Given the description of an element on the screen output the (x, y) to click on. 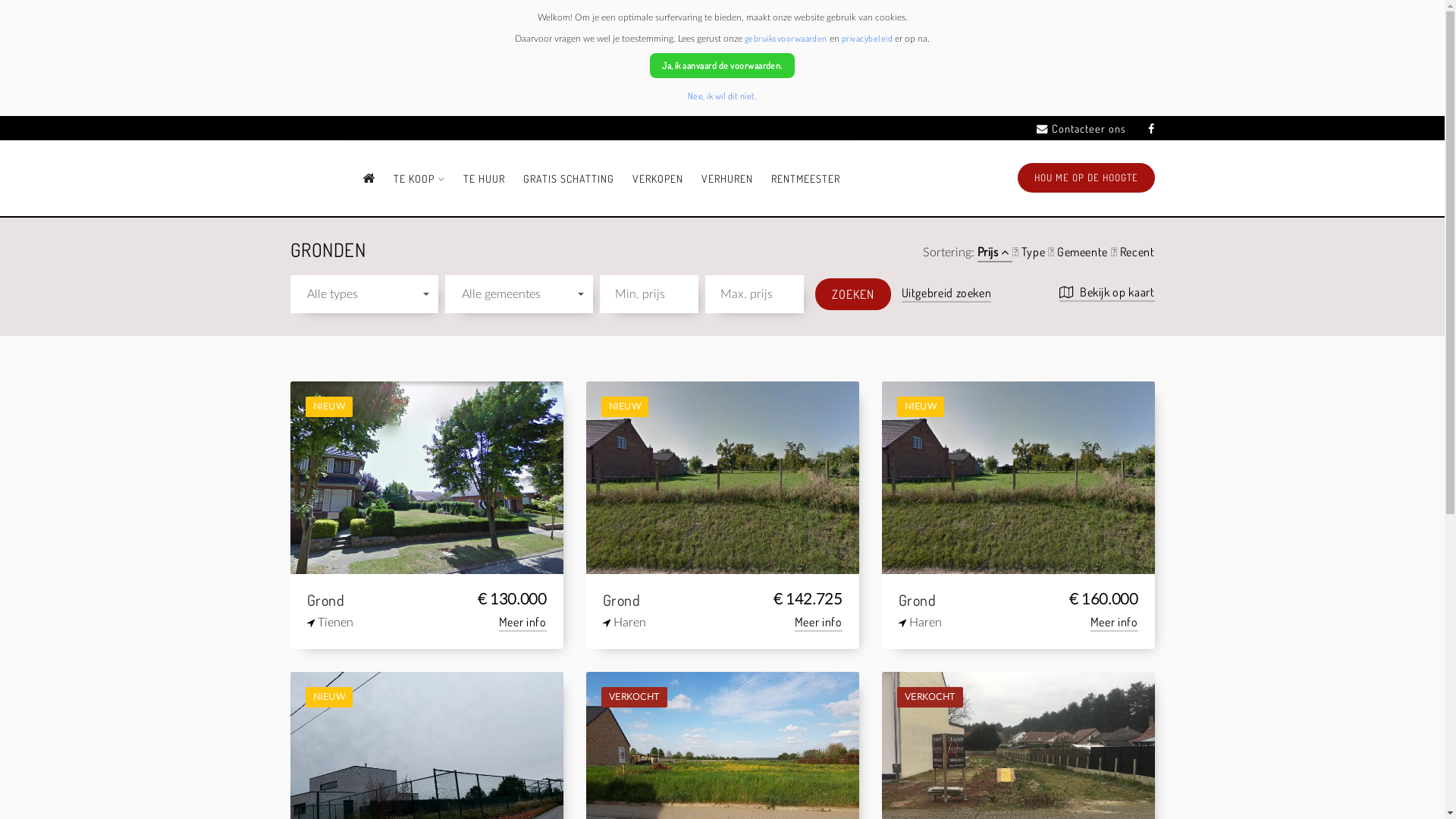
VERHUREN Element type: text (727, 178)
RENTMEESTER Element type: text (805, 178)
GRATIS SCHATTING Element type: text (568, 178)
Meer info Element type: text (522, 622)
VERKOPEN Element type: text (657, 178)
Zoeken Element type: text (852, 294)
Alle gemeentes
  Element type: text (518, 294)
TE HUUR Element type: text (484, 178)
Tienen Element type: text (402, 622)
Meer info Element type: text (818, 622)
NIEUW Element type: text (1017, 475)
Alle types
  Element type: text (363, 294)
Bekijk op kaart Element type: text (1106, 292)
Prijs Element type: text (994, 253)
TE KOOP Element type: text (419, 178)
gebruiksvoorwaarden Element type: text (785, 37)
NIEUW Element type: text (425, 766)
Meer info Element type: text (1114, 622)
Uitgebreid zoeken Element type: text (945, 293)
NIEUW Element type: text (425, 475)
Recent Element type: text (1137, 253)
Gemeente Element type: text (1083, 253)
Haren Element type: text (993, 622)
Haren Element type: text (697, 622)
Nee, ik wil dit niet. Element type: text (721, 95)
privacybeleid Element type: text (866, 37)
HOU ME OP DE HOOGTE Element type: text (1085, 177)
Ja, ik aanvaard de voorwaarden. Element type: text (721, 65)
Type Element type: text (1034, 253)
NIEUW Element type: text (721, 475)
Contacteer ons Element type: text (1080, 128)
